Given the description of an element on the screen output the (x, y) to click on. 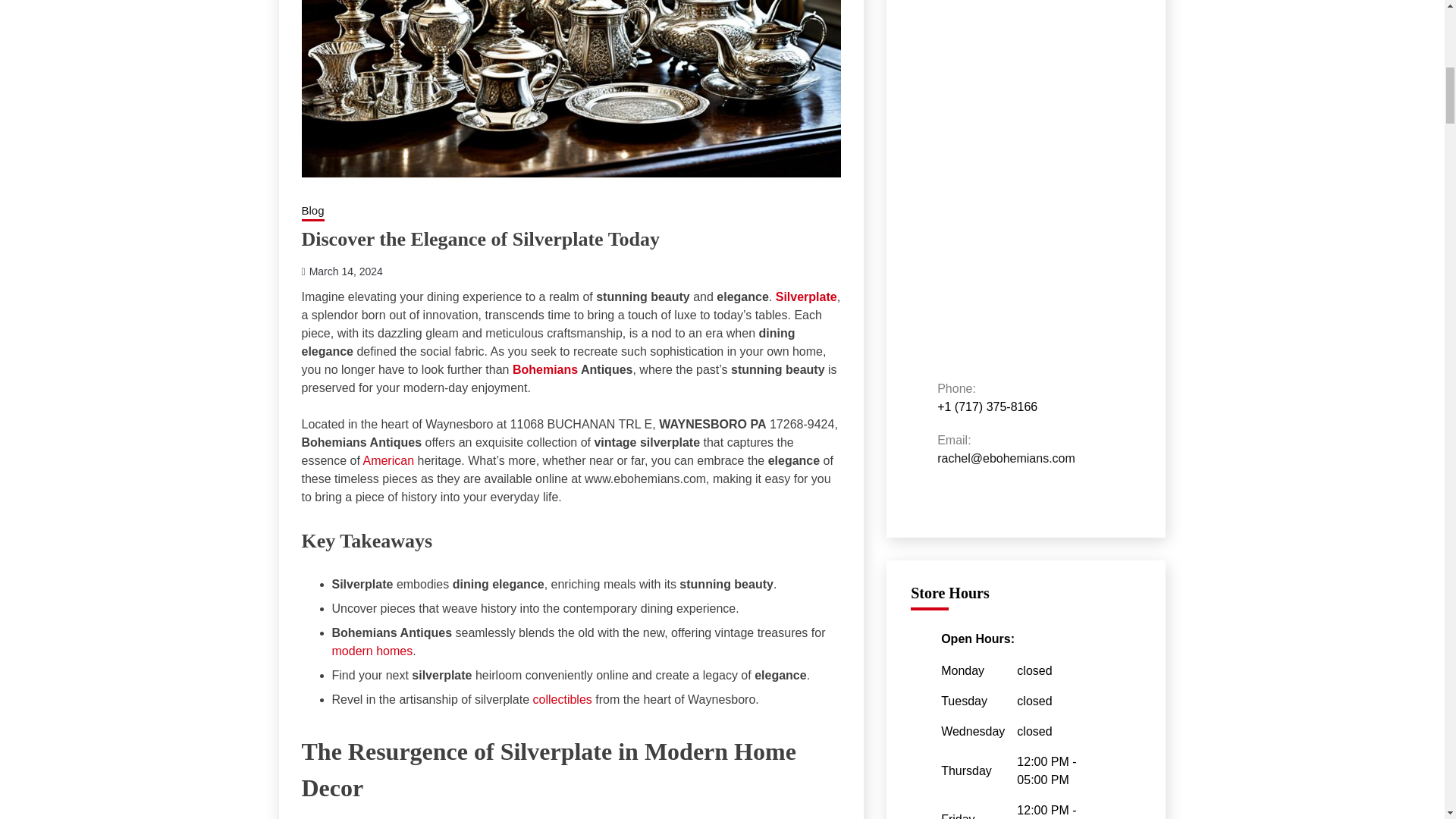
Bohemians (545, 368)
Silverplate (806, 295)
collectibles (562, 698)
Silverplate (571, 88)
March 14, 2024 (345, 271)
modern homes (372, 650)
Blog (312, 211)
American (387, 459)
